Given the description of an element on the screen output the (x, y) to click on. 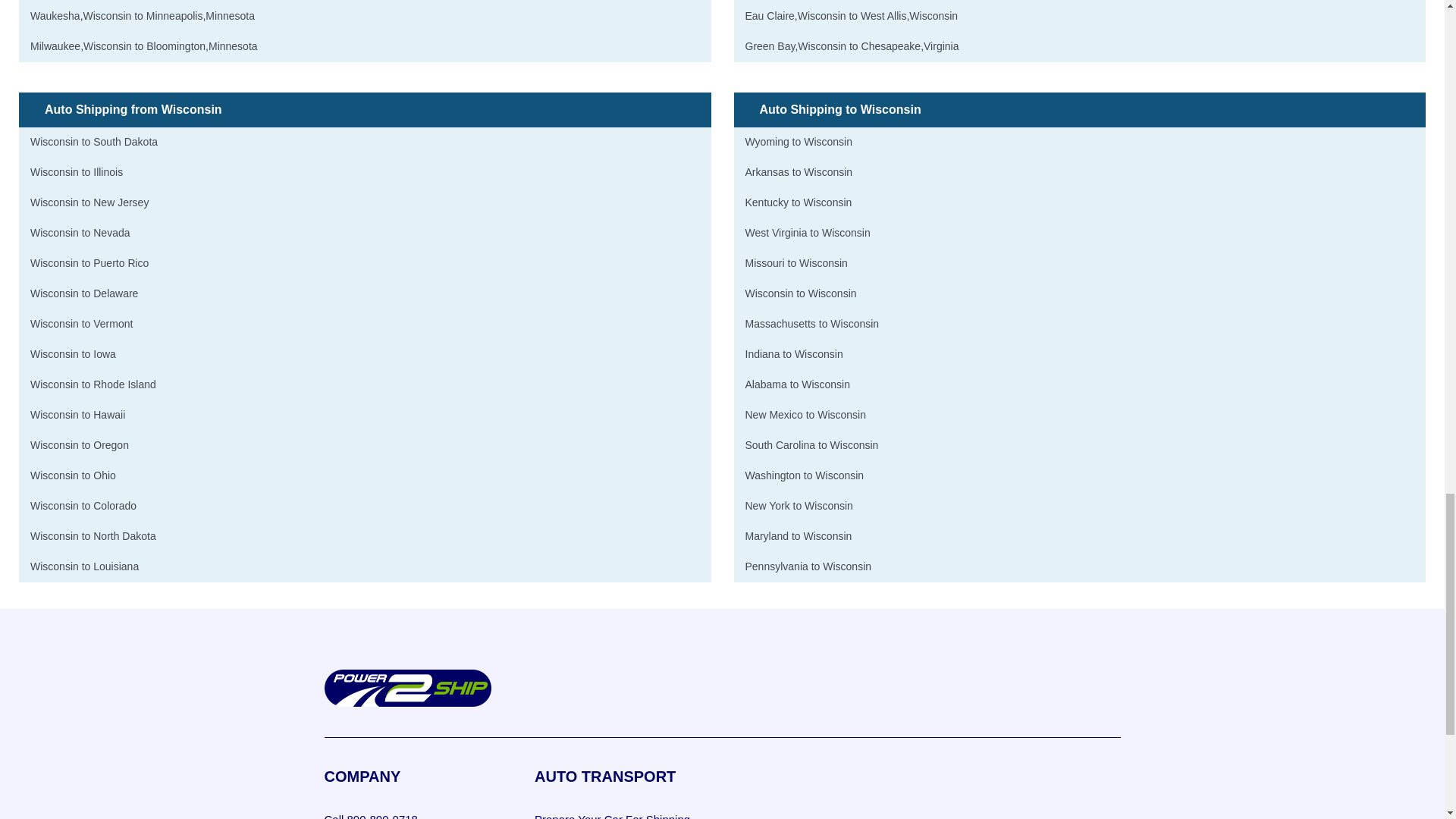
Wisconsin to Rhode Island (364, 385)
Wisconsin to Ohio (364, 476)
Wisconsin to Delaware (364, 294)
Wisconsin to Puerto Rico (364, 263)
Wisconsin to New Jersey (364, 203)
Wisconsin to Colorado (364, 506)
Wyoming to Wisconsin (1079, 142)
Wisconsin to Illinois (364, 173)
Milwaukee,Wisconsin to Bloomington,Minnesota (364, 46)
